Given the description of an element on the screen output the (x, y) to click on. 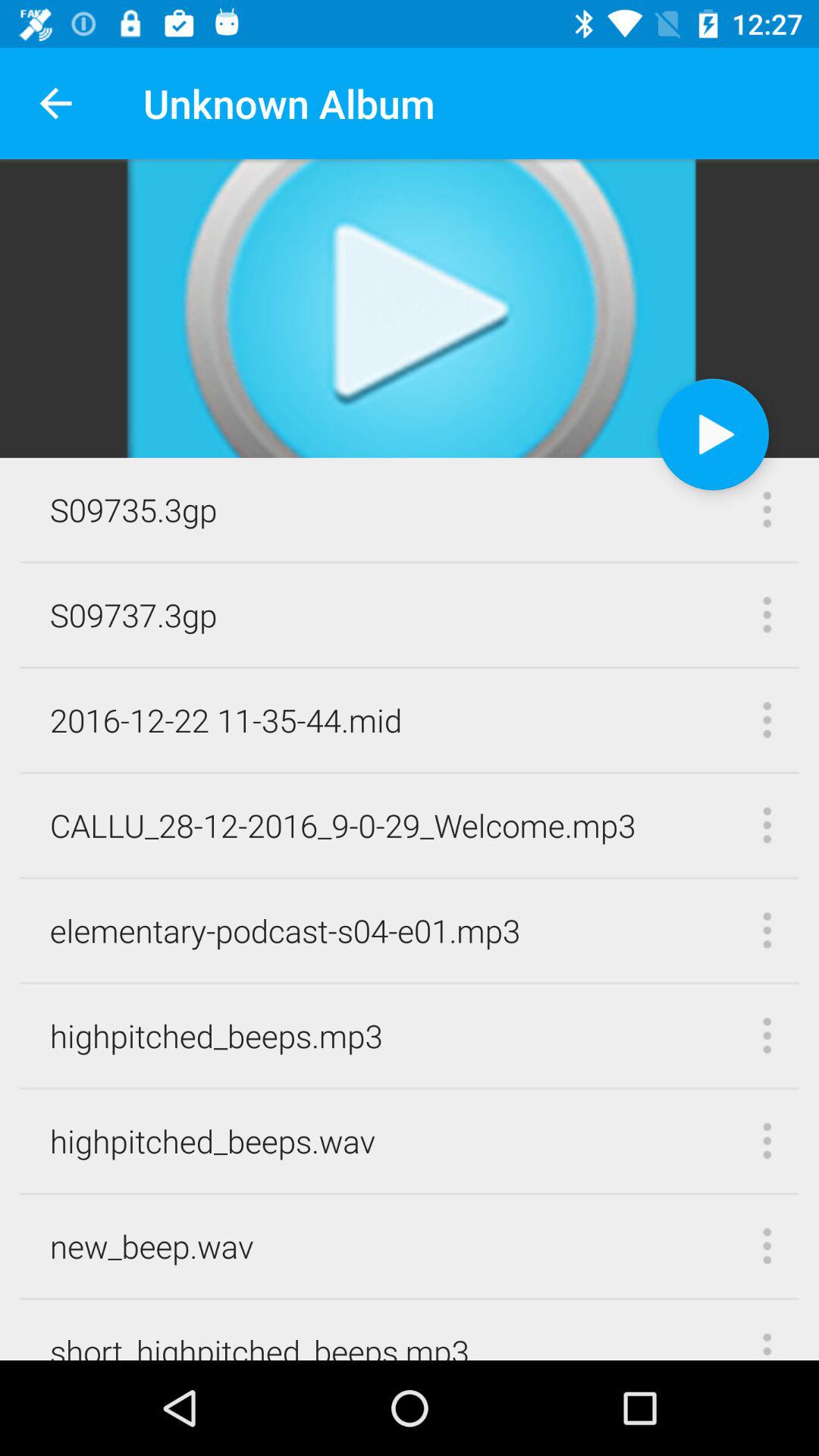
play video (712, 434)
